Given the description of an element on the screen output the (x, y) to click on. 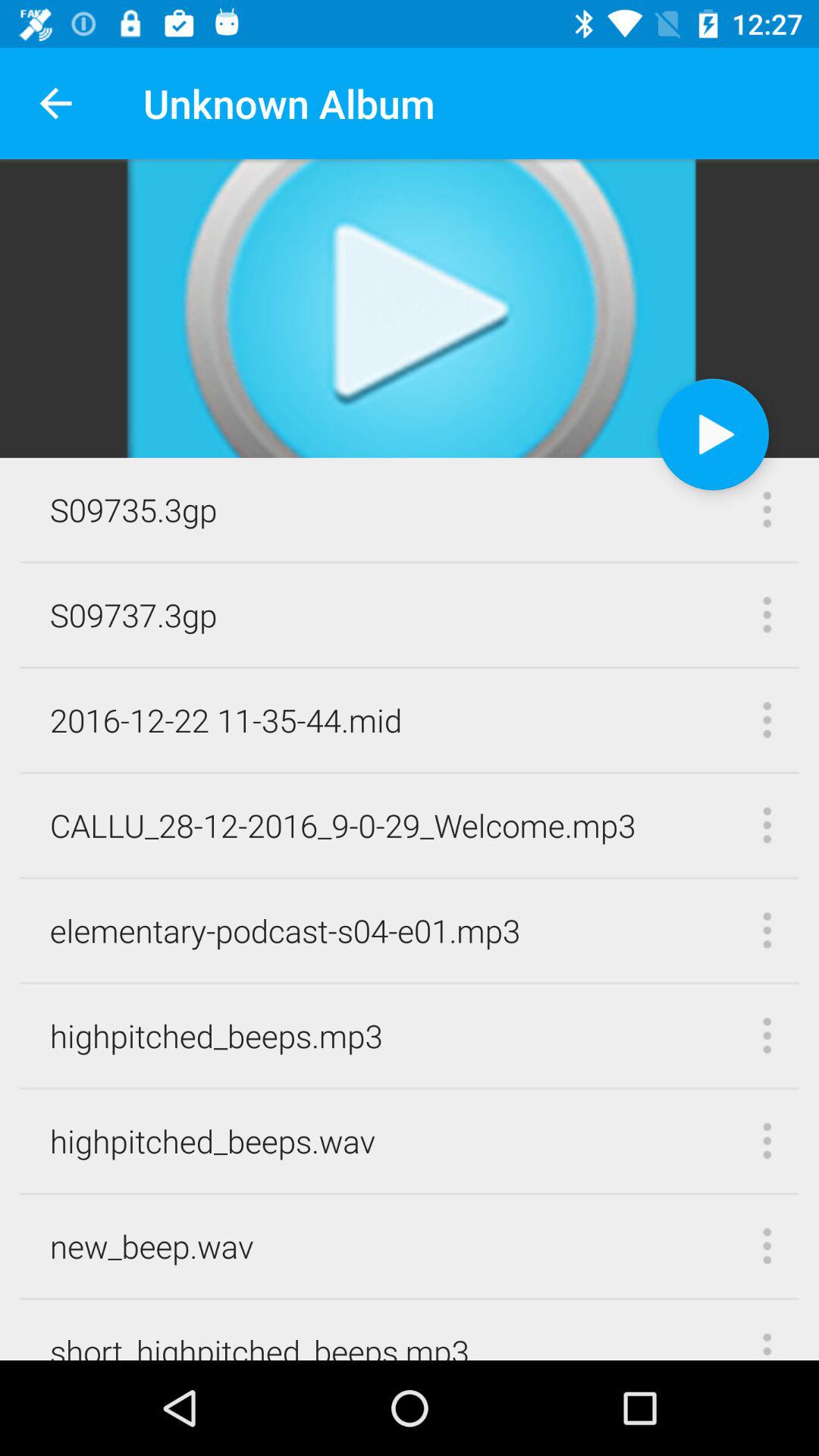
play video (712, 434)
